Given the description of an element on the screen output the (x, y) to click on. 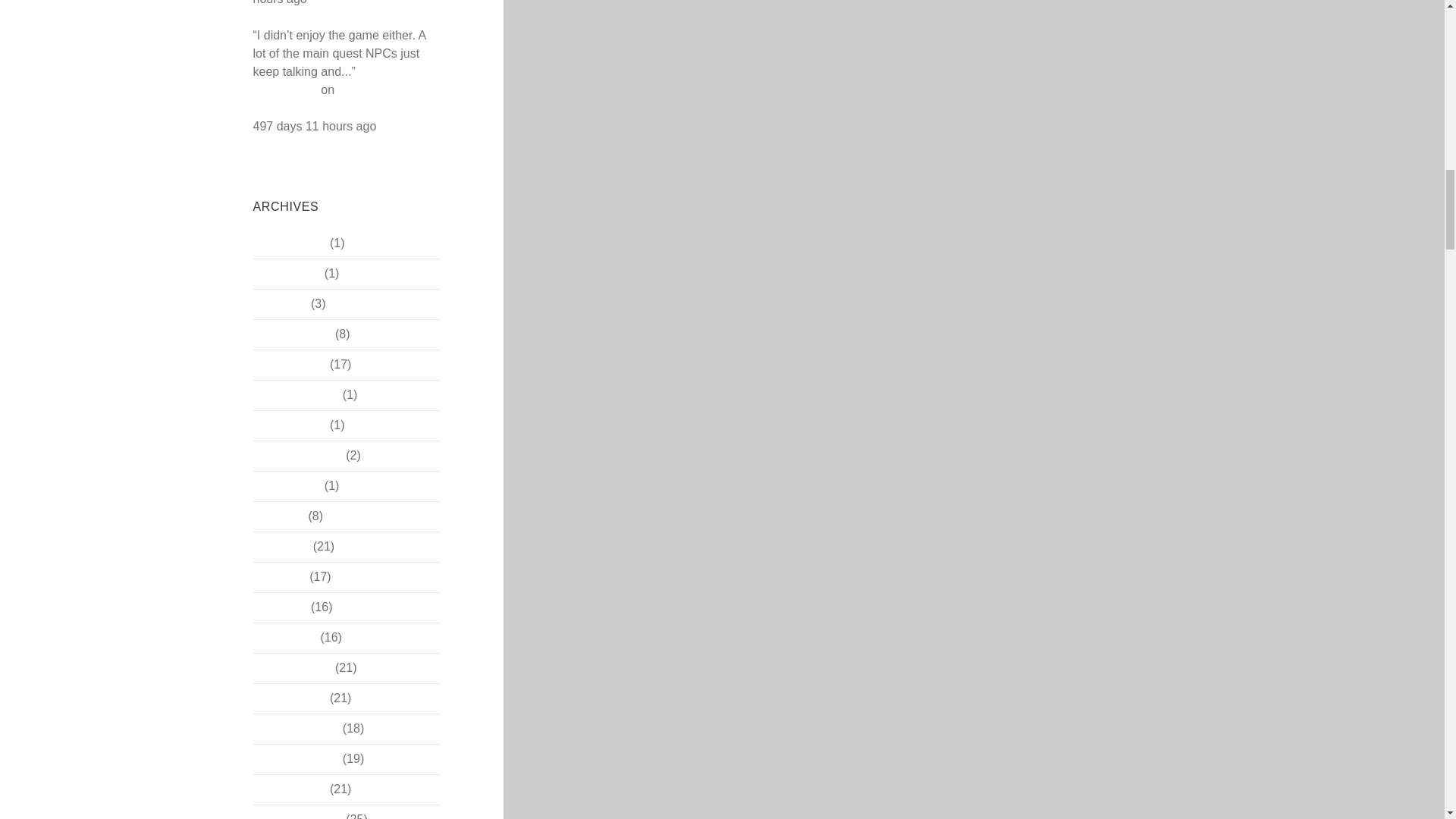
July 2014 (279, 515)
January 2018 (289, 242)
March 2014 (285, 636)
June 2014 (281, 545)
May 2014 (279, 576)
August 2014 (287, 485)
September 2014 (297, 454)
August 2016 (287, 273)
February 2016 (292, 333)
October 2014 (289, 424)
January 2014 (289, 697)
January 2016 (289, 364)
Shane Steinhauser (323, 80)
February 2014 (292, 667)
